Given the description of an element on the screen output the (x, y) to click on. 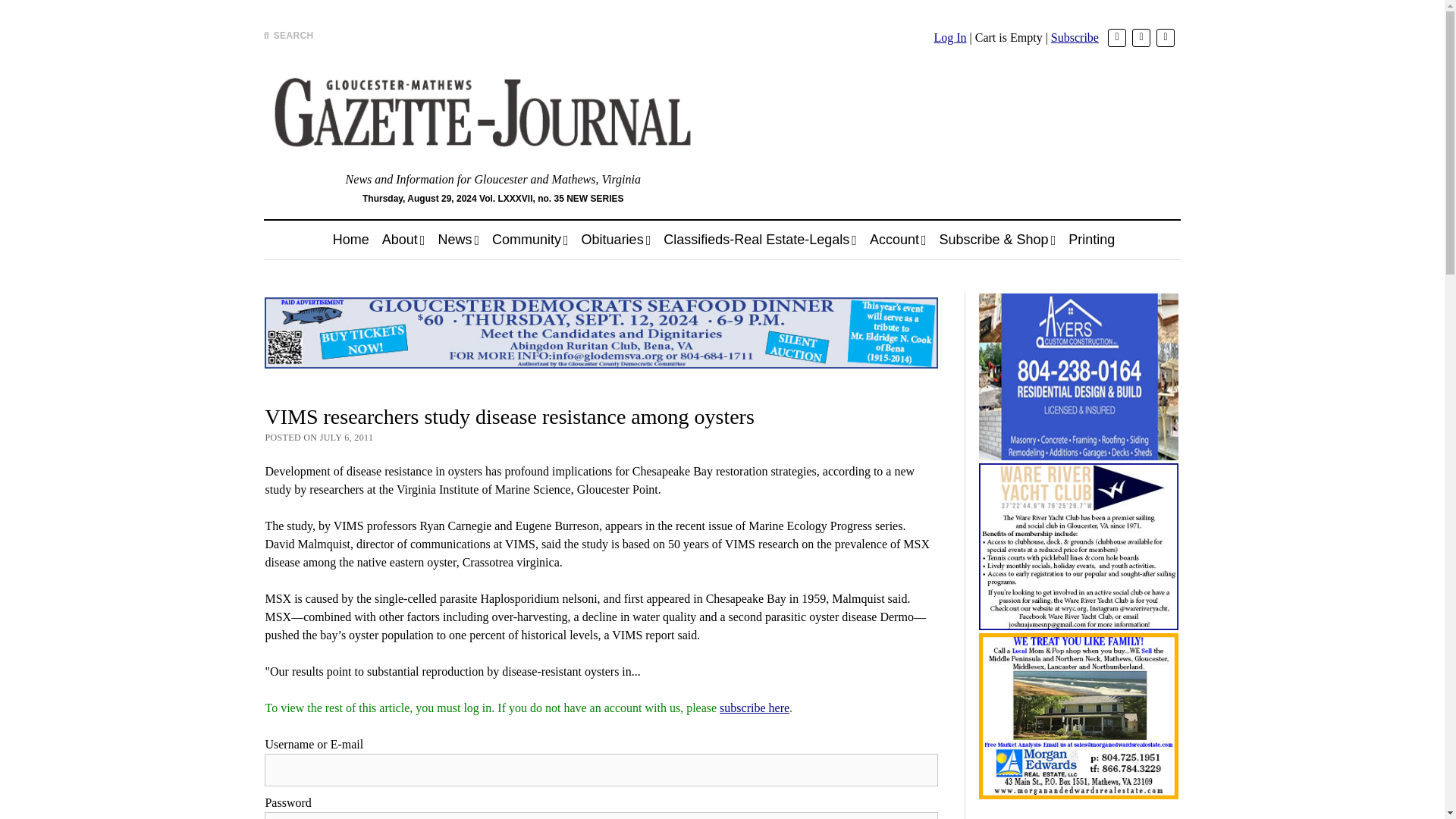
Subscribe (1075, 37)
SEARCH (288, 35)
facebook (1141, 37)
twitter (1116, 37)
News (457, 239)
instagram (1165, 37)
Home (350, 239)
About (402, 239)
Community (530, 239)
Log In (949, 37)
